Given the description of an element on the screen output the (x, y) to click on. 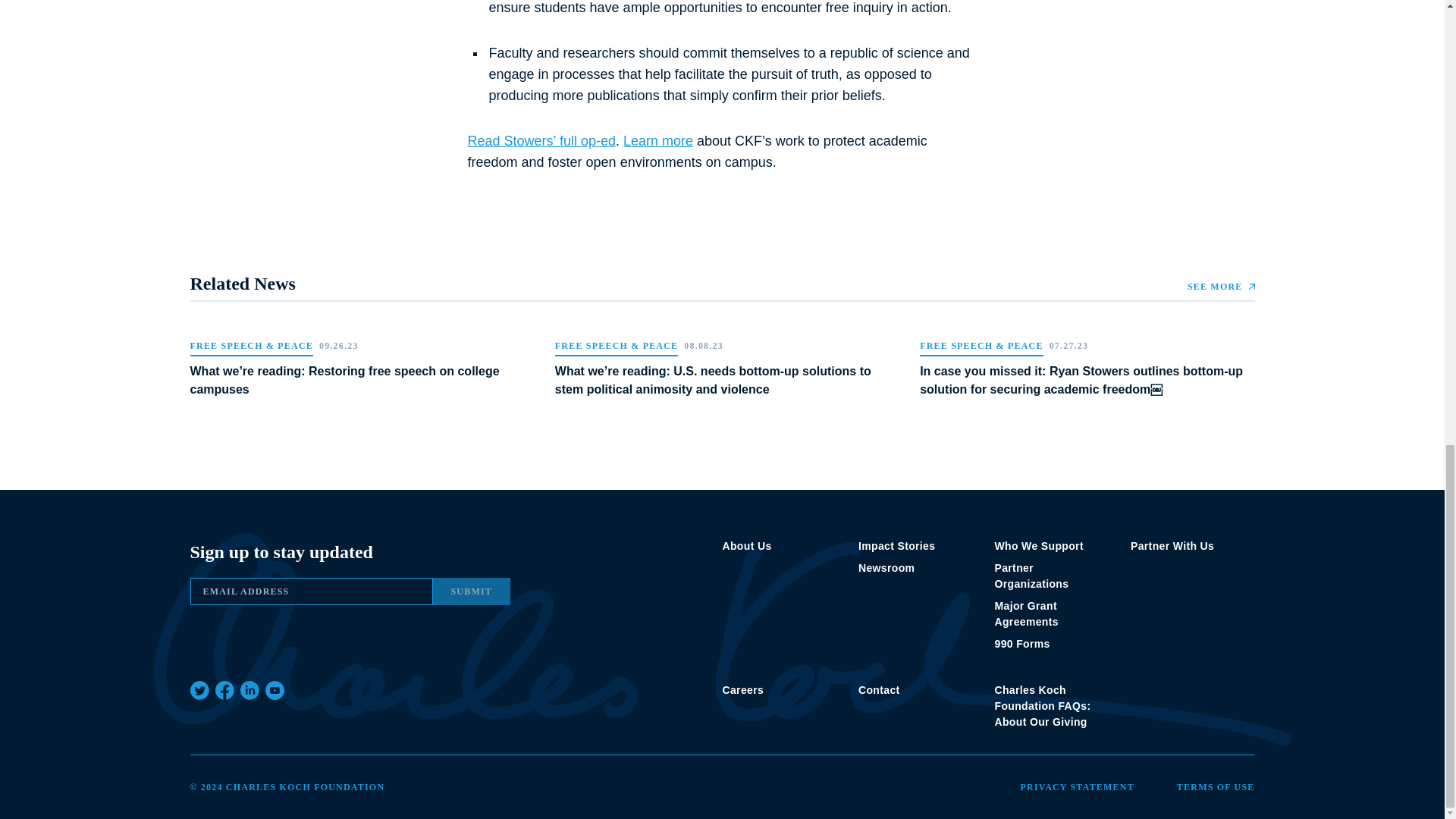
Submit (471, 591)
